Given the description of an element on the screen output the (x, y) to click on. 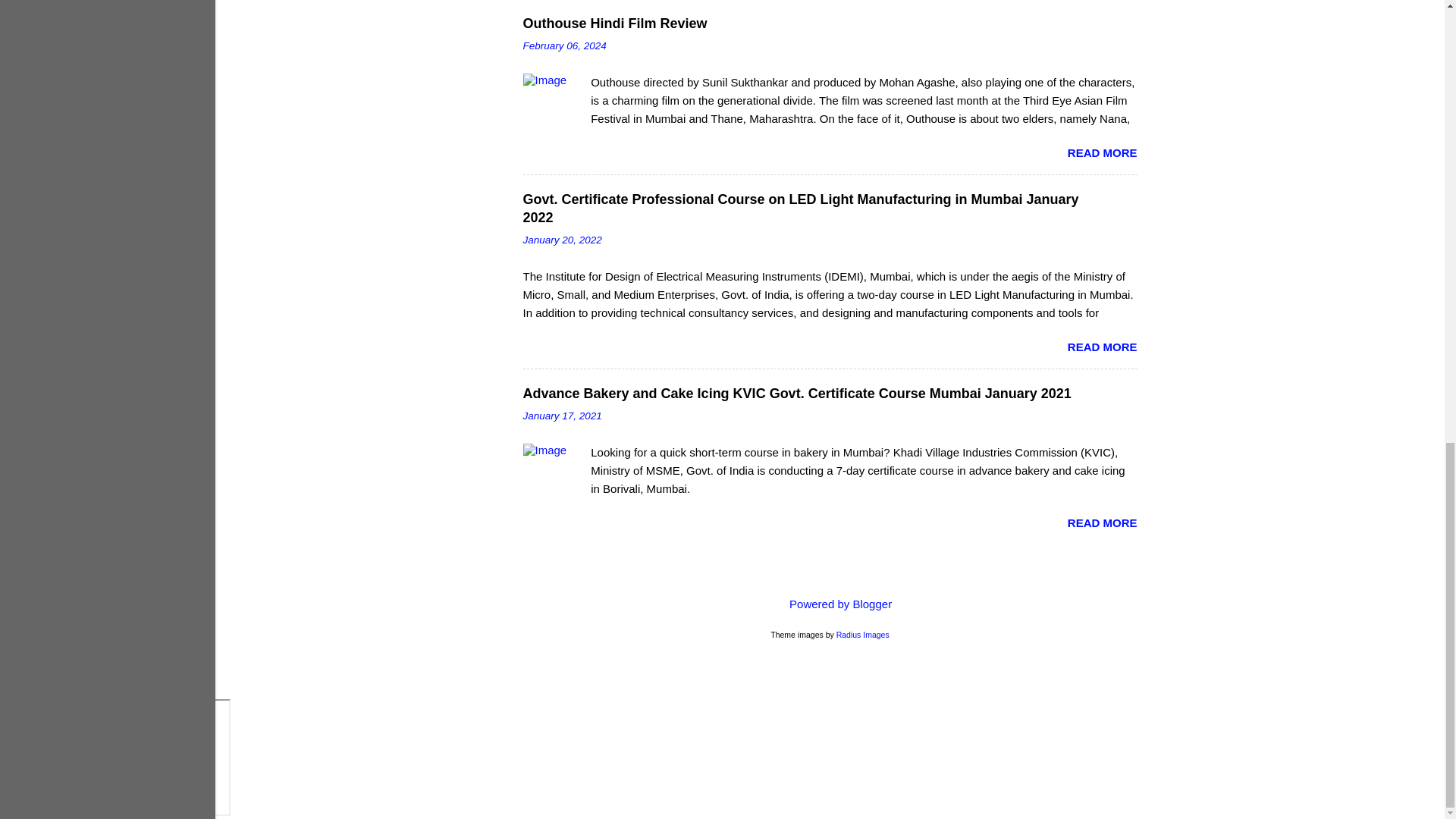
January 20, 2022 (562, 239)
January 17, 2021 (562, 415)
permanent link (564, 45)
READ MORE (1102, 152)
February 06, 2024 (564, 45)
READ MORE (1102, 522)
Powered by Blogger (829, 603)
Outhouse Hindi Film Review (614, 23)
READ MORE (1102, 346)
Radius Images (862, 634)
